Given the description of an element on the screen output the (x, y) to click on. 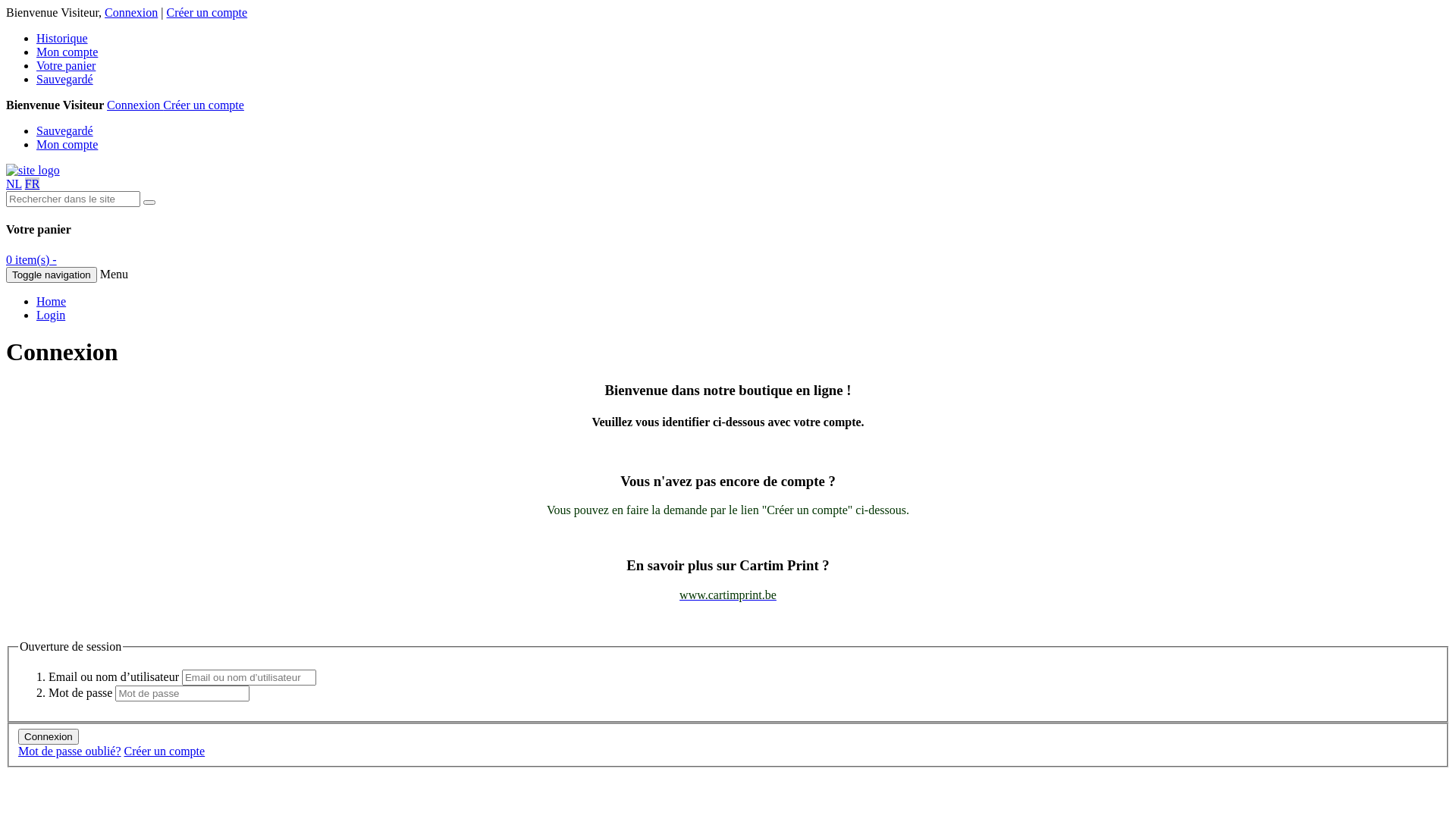
0 item(s) - Element type: text (31, 259)
NL Element type: text (13, 183)
Votre panier Element type: text (65, 65)
Historique Element type: text (61, 37)
Mon compte Element type: text (66, 51)
Connexion Element type: text (48, 736)
Home Element type: text (50, 300)
Connexion Element type: text (134, 104)
Toggle navigation Element type: text (51, 274)
Connexion Element type: text (130, 12)
Login Element type: text (50, 314)
www.cartimprint.be Element type: text (727, 594)
FR Element type: text (32, 183)
Mon compte Element type: text (66, 144)
